Given the description of an element on the screen output the (x, y) to click on. 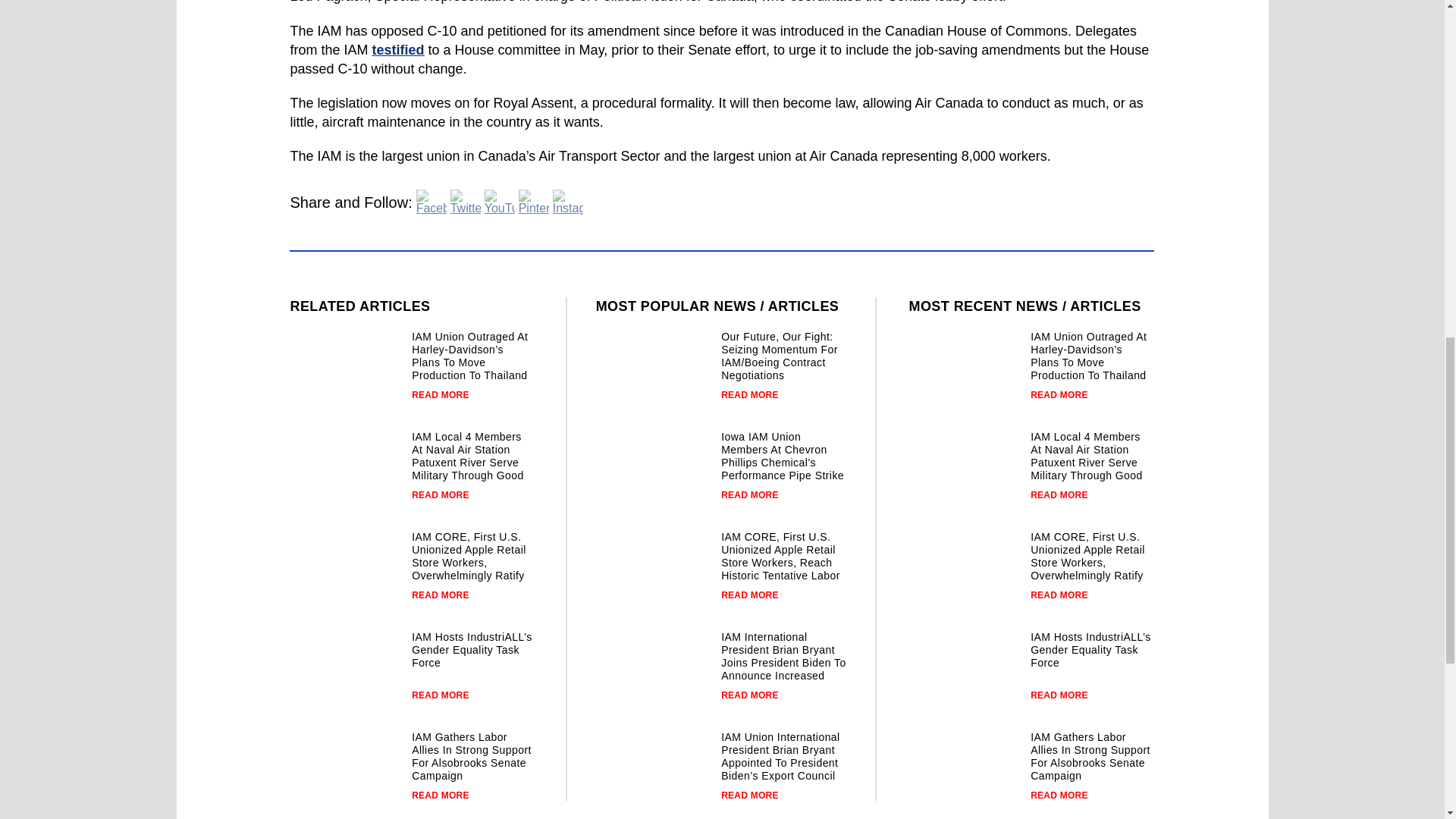
Twitter (464, 202)
Facebook (431, 202)
testified (398, 49)
Instagram (568, 202)
Pinterest (533, 202)
YouTube (499, 202)
